Given the description of an element on the screen output the (x, y) to click on. 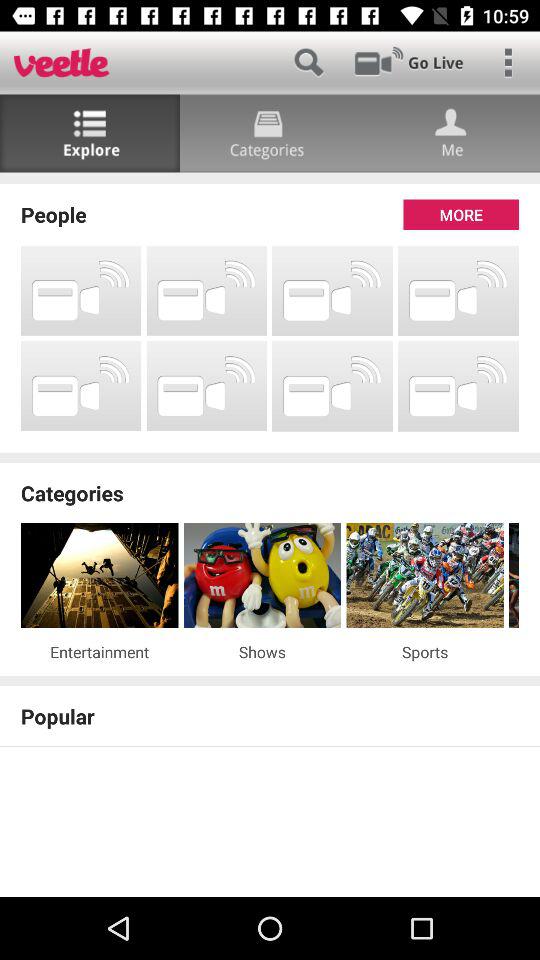
tap app below the people item (206, 290)
